Given the description of an element on the screen output the (x, y) to click on. 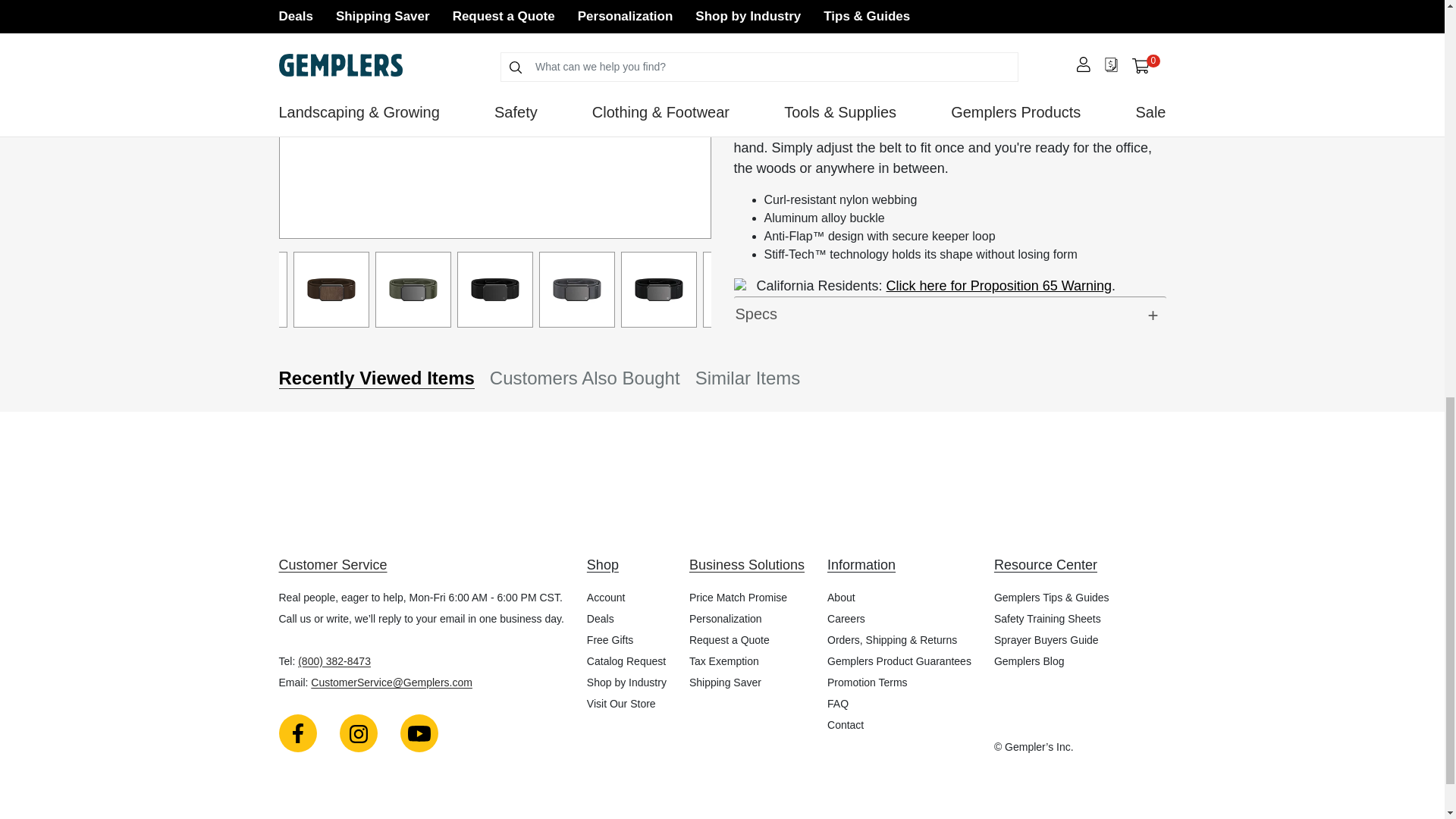
tel:8003828473 (334, 661)
Youtube (419, 733)
Instagram (358, 733)
Facebook (298, 733)
